Given the description of an element on the screen output the (x, y) to click on. 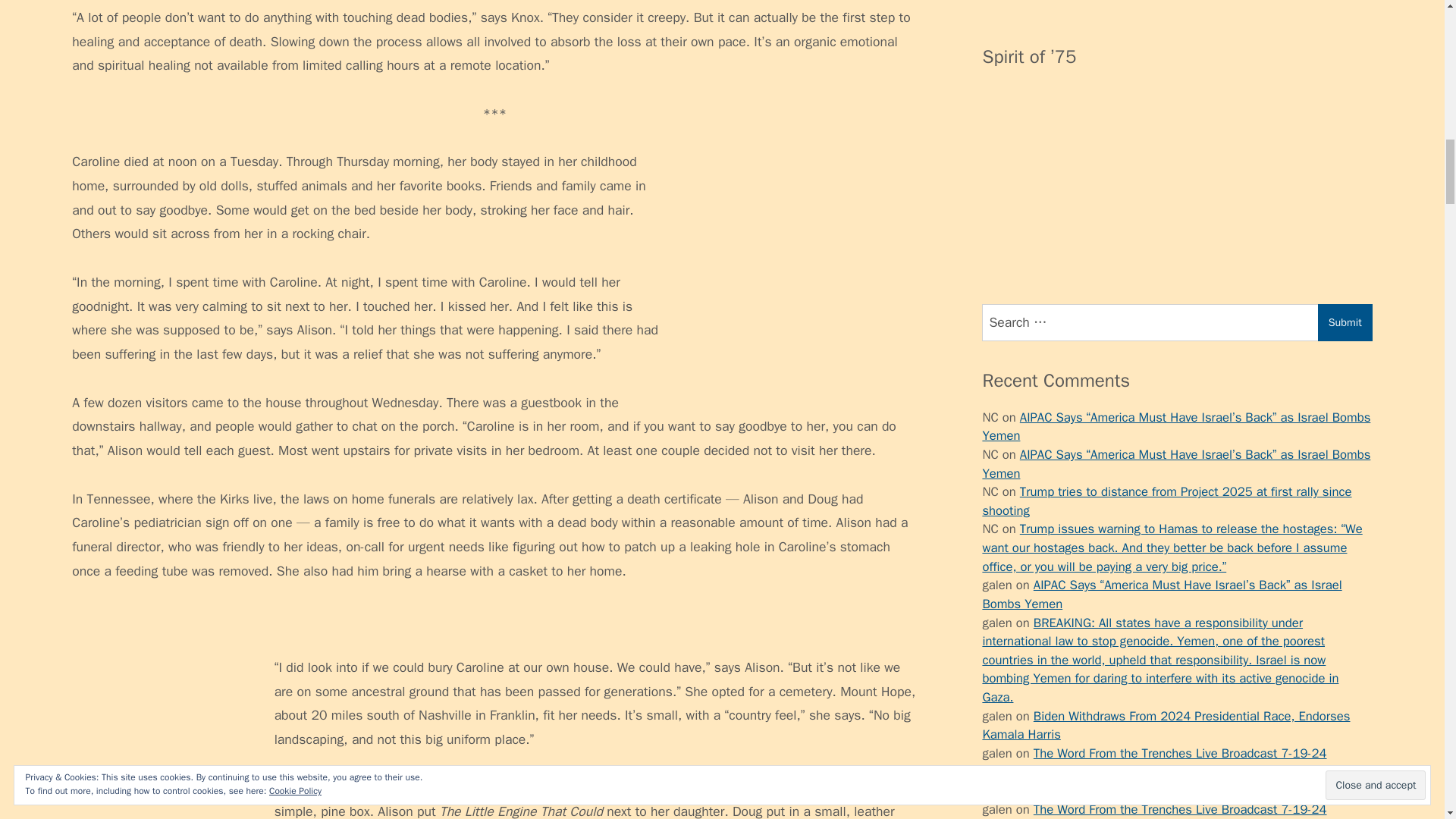
porno (997, 433)
